Given the description of an element on the screen output the (x, y) to click on. 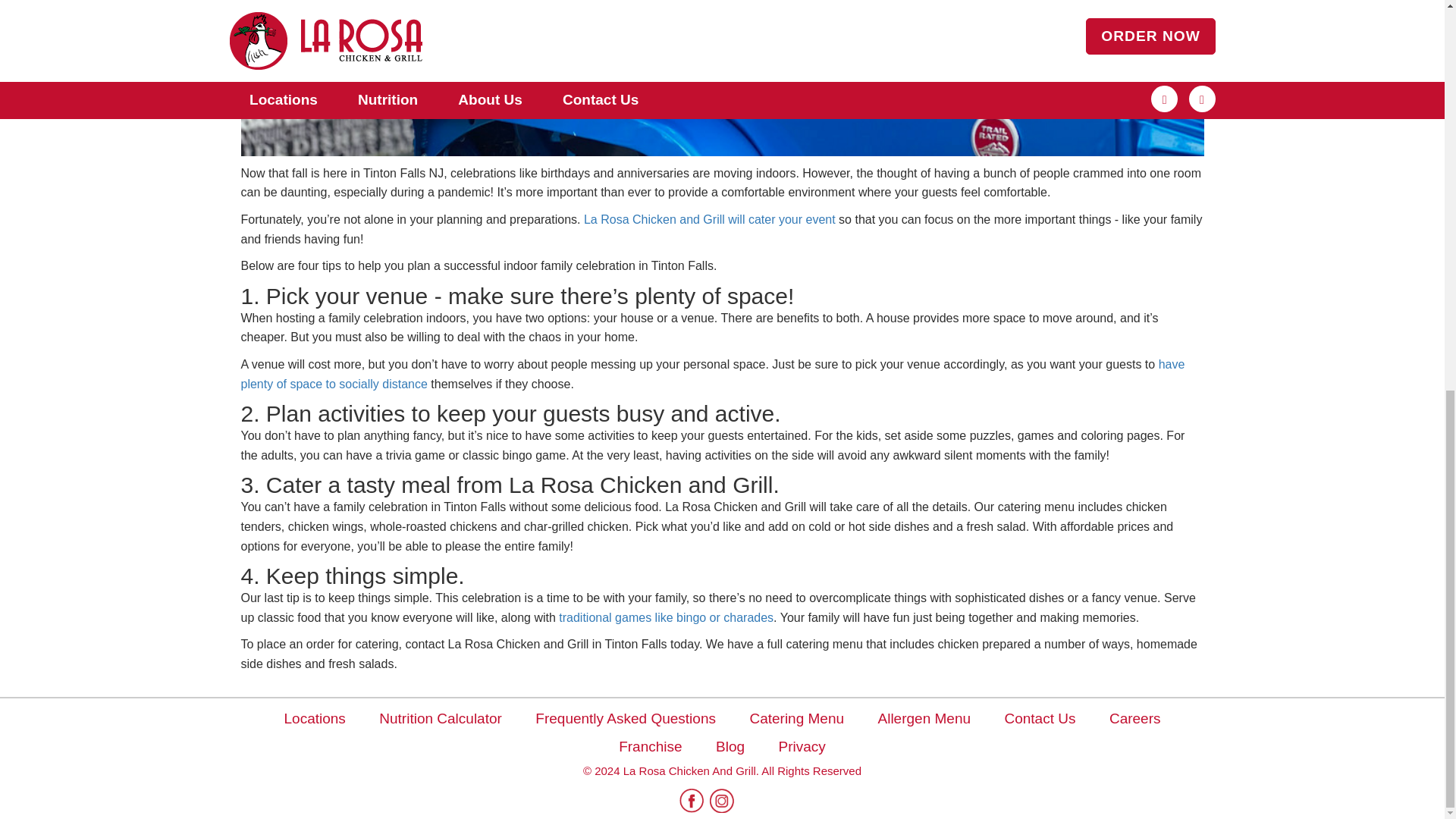
Contact Us (1039, 718)
Allergen Menu (924, 718)
Frequently Asked Questions (625, 718)
have plenty of space to socially distance (713, 373)
Careers (1134, 718)
Locations (314, 718)
Nutrition Calculator (440, 718)
Catering Menu (796, 718)
Blog (730, 746)
Privacy (801, 746)
